Given the description of an element on the screen output the (x, y) to click on. 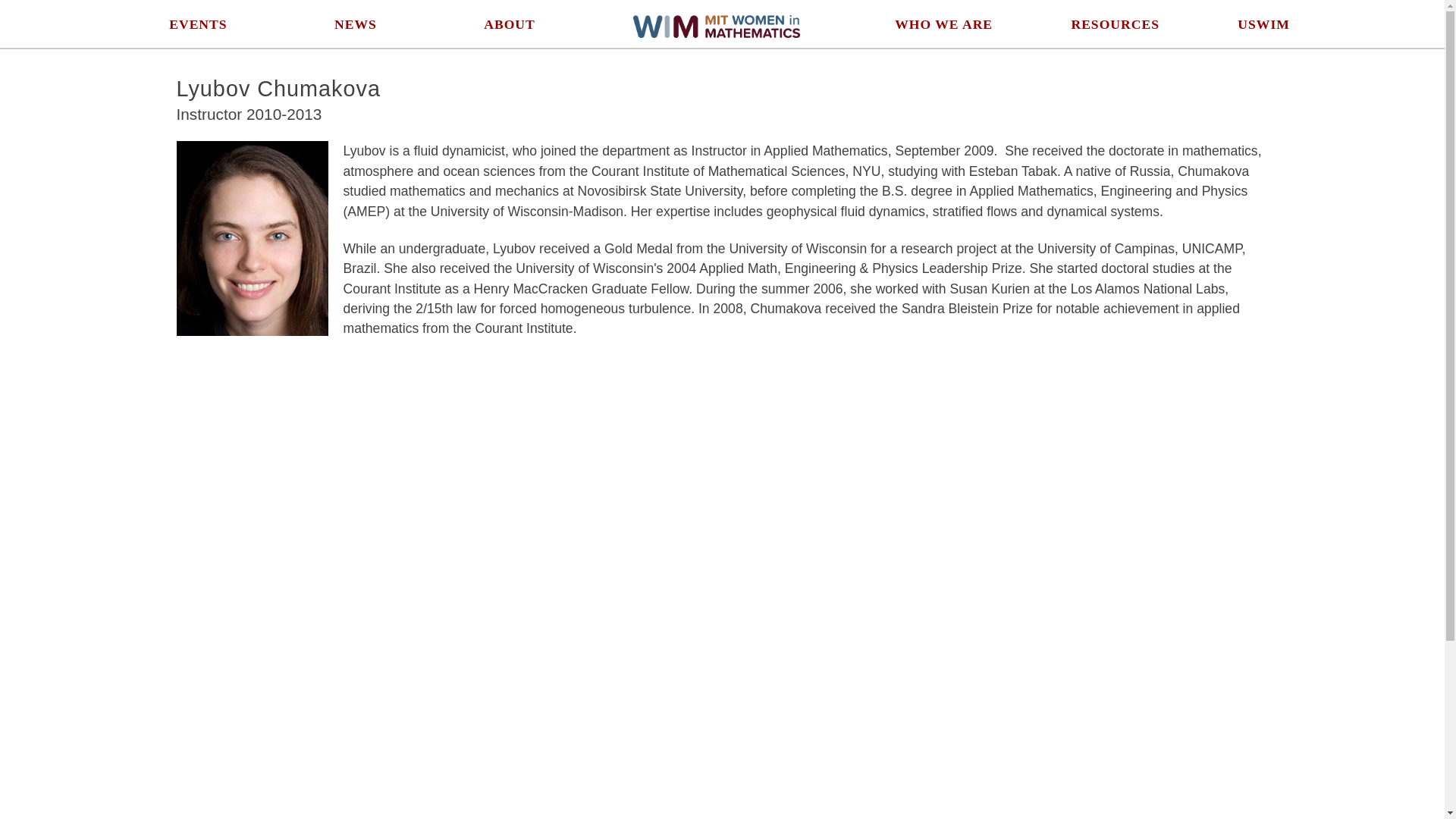
WHO WE ARE (943, 23)
EVENTS (197, 23)
NEWS (355, 23)
RESOURCES (1114, 23)
ABOUT (509, 23)
USWIM (1263, 23)
